Given the description of an element on the screen output the (x, y) to click on. 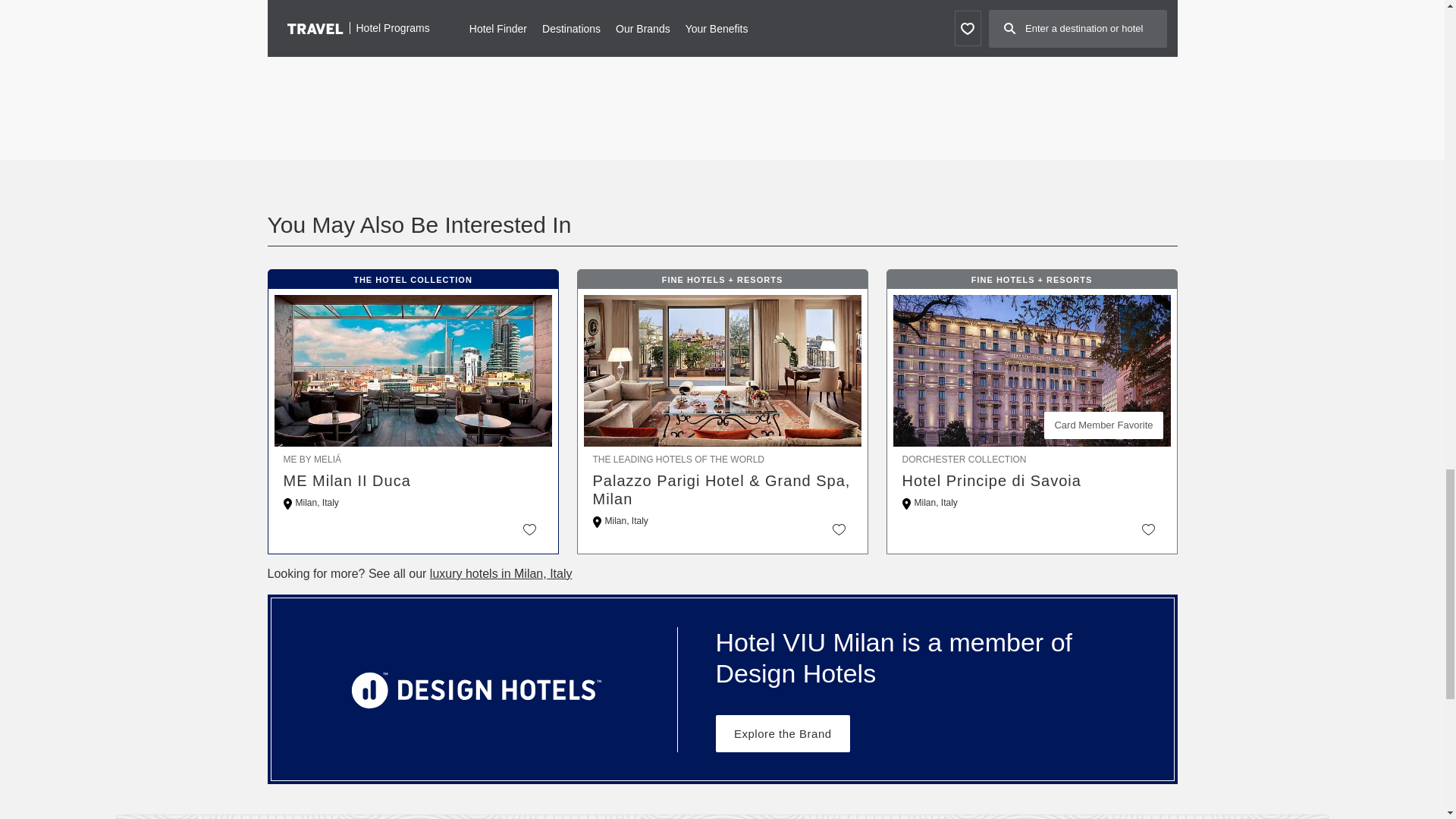
Hotel Principe di Savoia (1031, 480)
Explore the Brand (783, 733)
luxury hotels in Milan, Italy (500, 573)
ME Milan II Duca (413, 480)
